Given the description of an element on the screen output the (x, y) to click on. 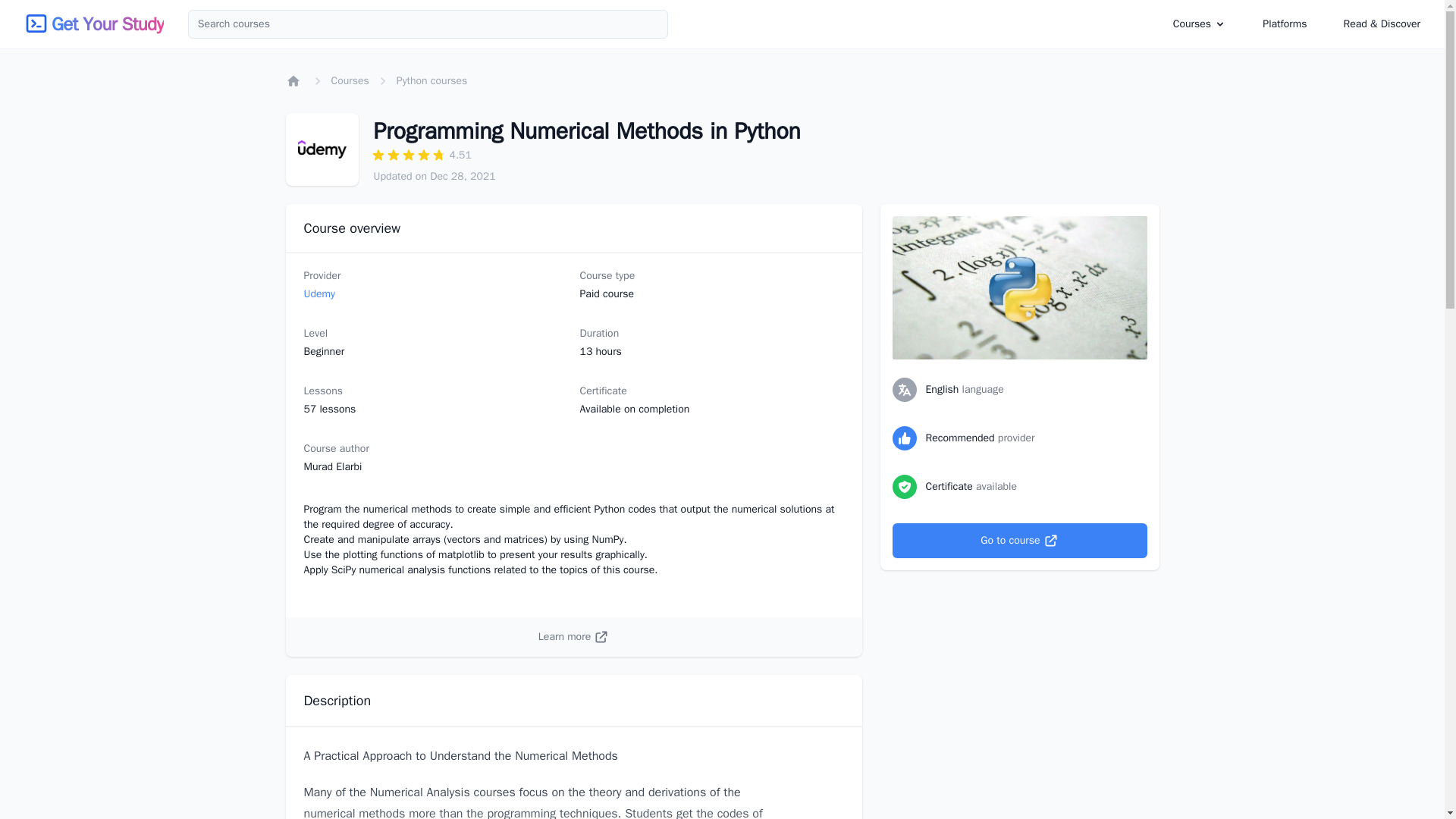
Udemy (318, 293)
Courses (349, 80)
Courses (1199, 24)
Courses (1192, 23)
Learn more (573, 636)
Python courses (431, 80)
Go to course (1019, 540)
Platforms (1284, 24)
Get Your Study (106, 24)
